Given the description of an element on the screen output the (x, y) to click on. 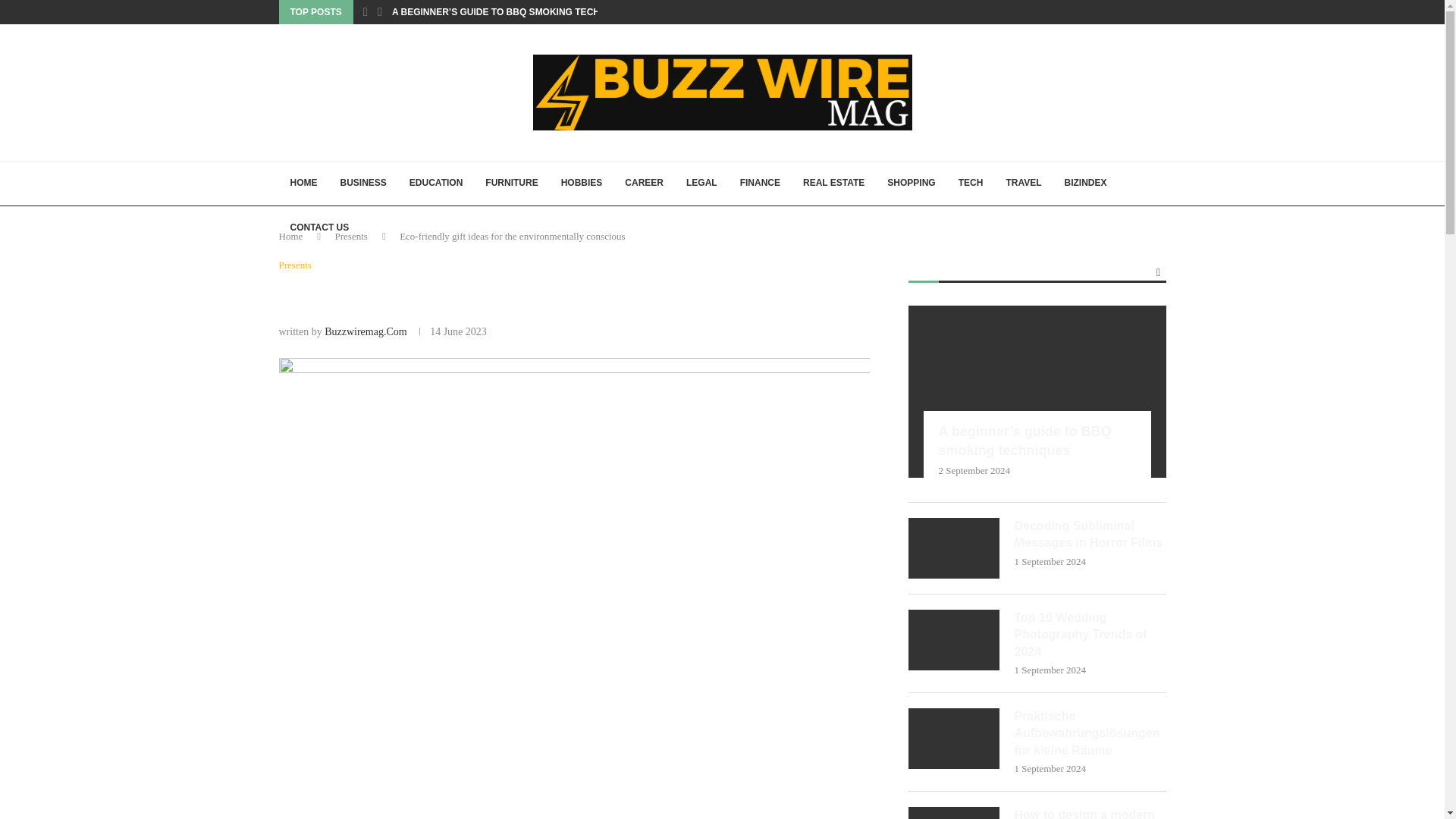
REAL ESTATE (834, 183)
BIZINDEX (1085, 183)
HOME (304, 183)
HOBBIES (582, 183)
Home (290, 235)
FURNITURE (511, 183)
Presents (295, 265)
CONTACT US (320, 227)
LEGAL (702, 183)
FINANCE (760, 183)
